Given the description of an element on the screen output the (x, y) to click on. 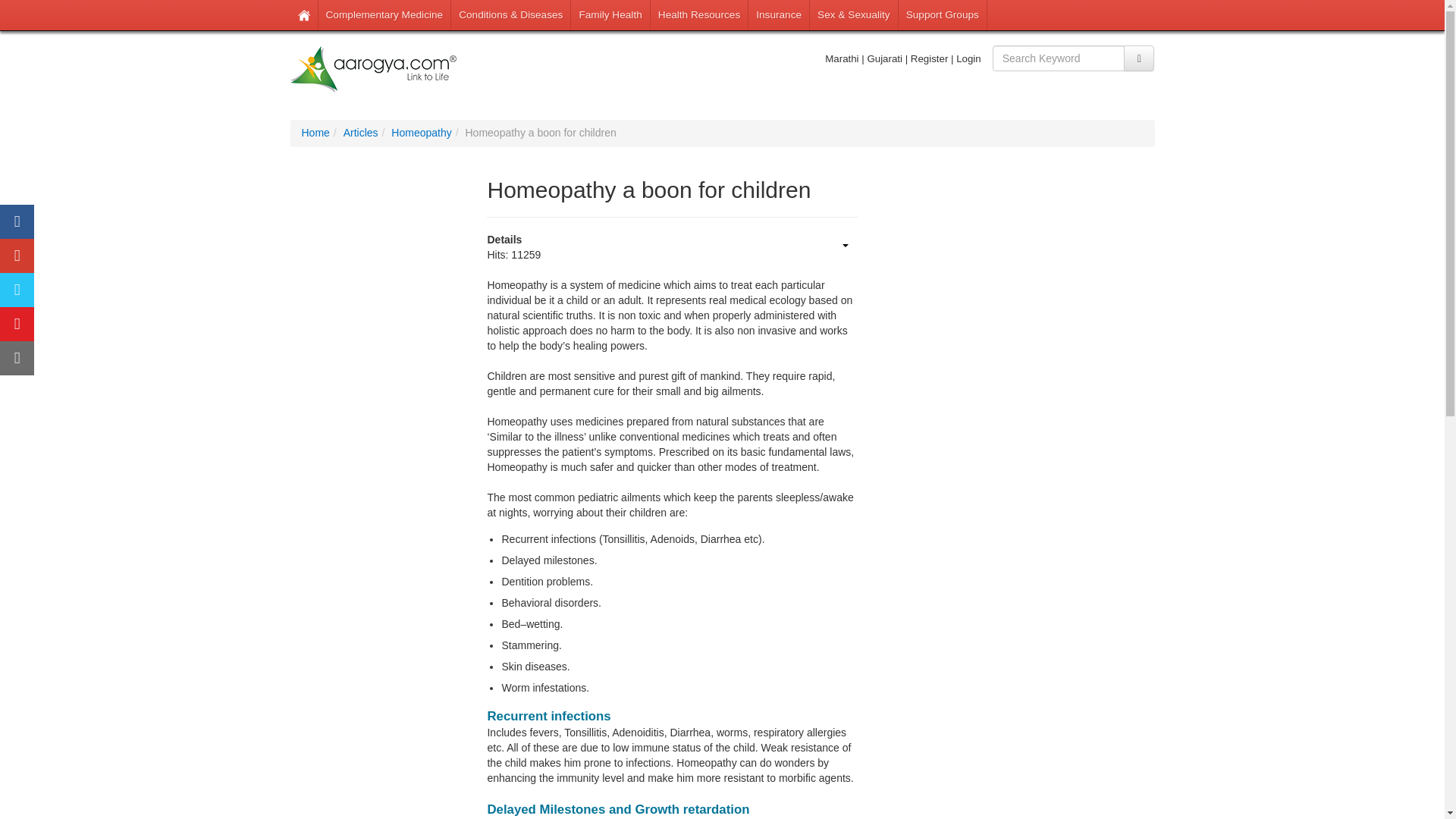
Complementary Medicine (384, 15)
Youtube (16, 324)
Facebook (16, 221)
Twitter (16, 289)
Aarogya.com (373, 69)
